Given the description of an element on the screen output the (x, y) to click on. 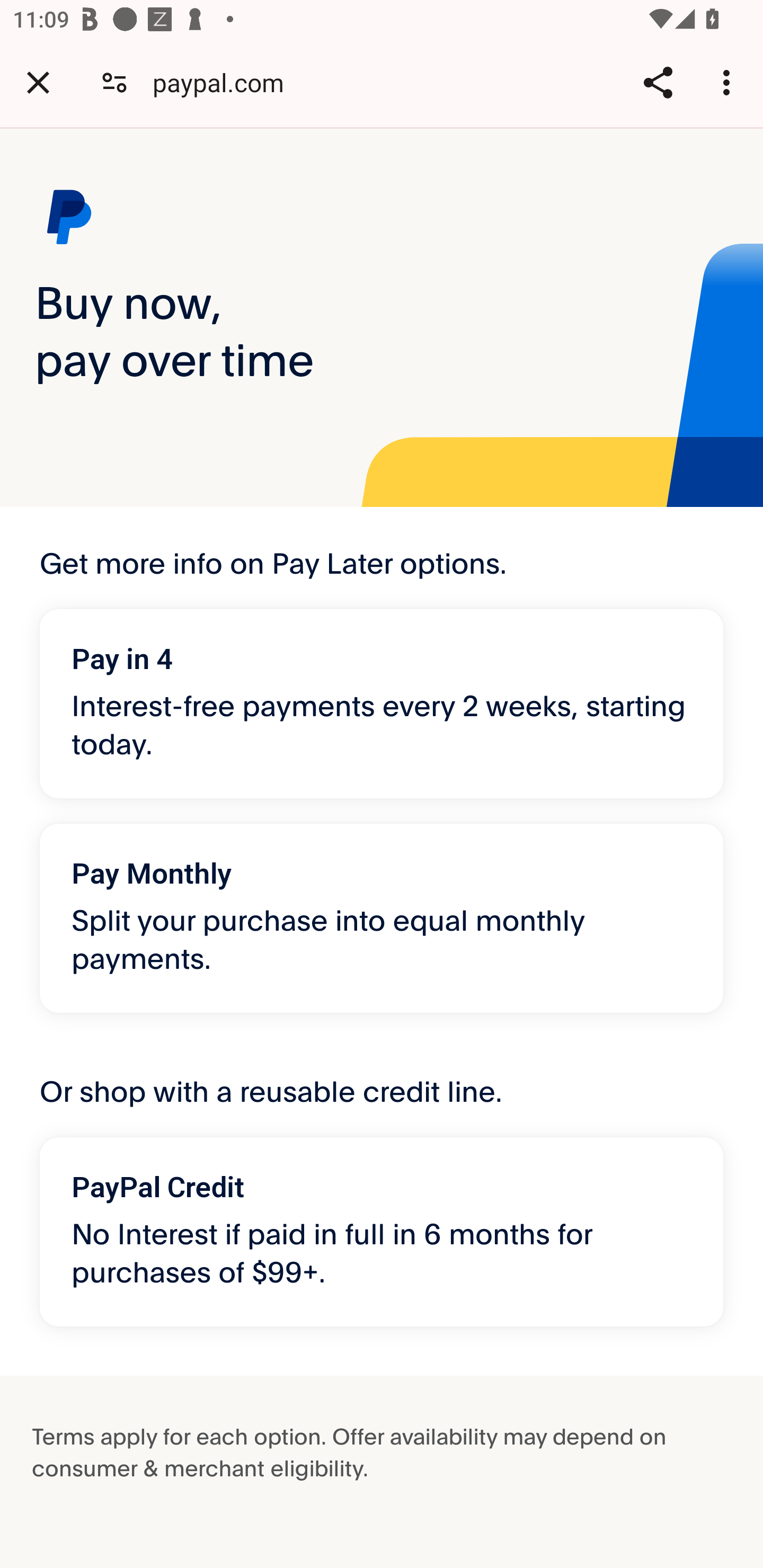
Close tab (38, 82)
Share (657, 82)
Customize and control Google Chrome (729, 82)
Connection is secure (114, 81)
paypal.com (224, 81)
